Given the description of an element on the screen output the (x, y) to click on. 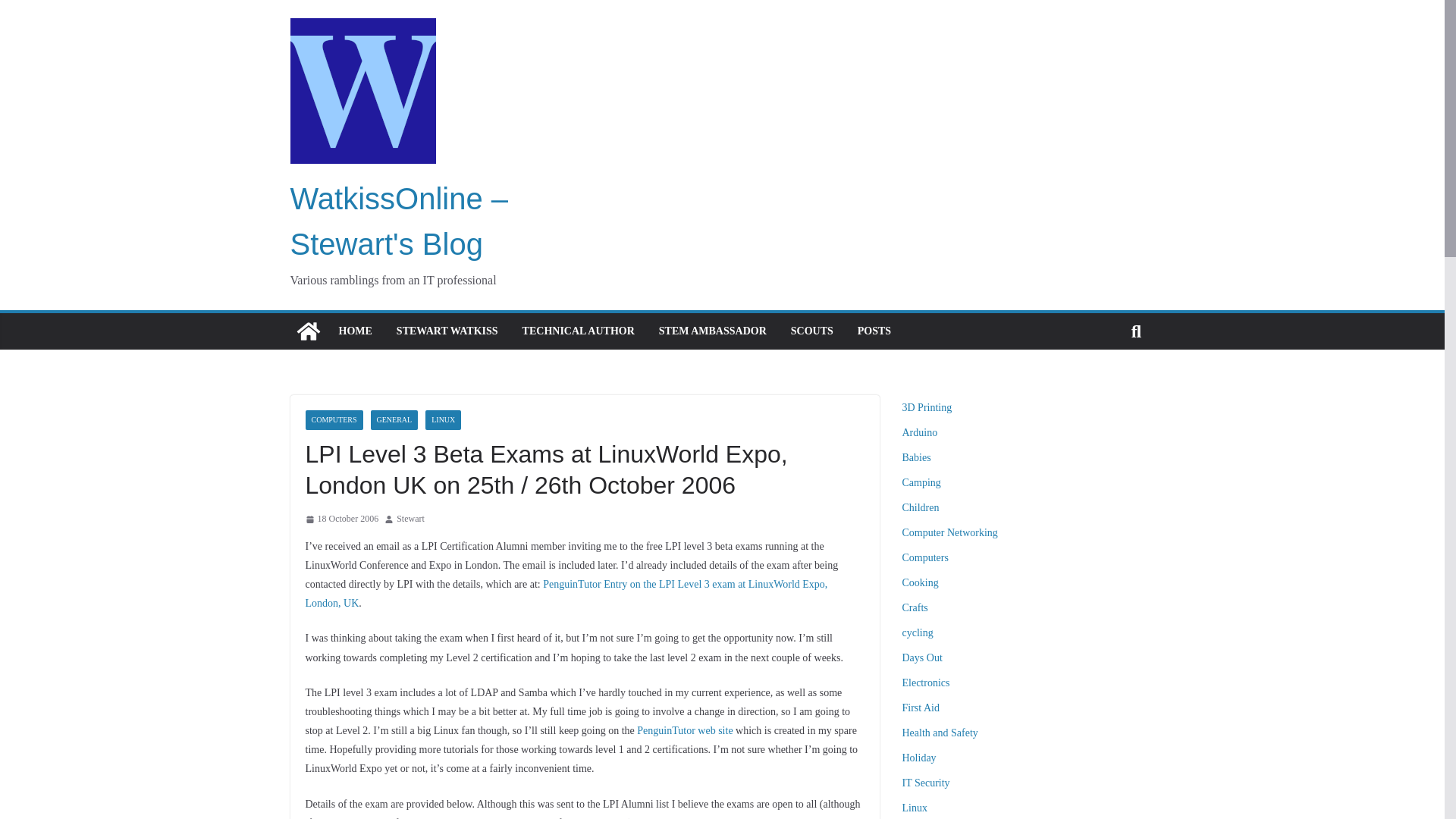
HOME (354, 331)
PenguinTutor web site (684, 730)
Camping (921, 482)
STEWART WATKISS (446, 331)
Stewart (410, 519)
Babies (916, 457)
3D Printing (927, 407)
POSTS (874, 331)
Children (920, 507)
Computer Networking (949, 532)
SCOUTS (811, 331)
LINUX (443, 419)
TECHNICAL AUTHOR (578, 331)
Arduino (919, 432)
COMPUTERS (333, 419)
